Given the description of an element on the screen output the (x, y) to click on. 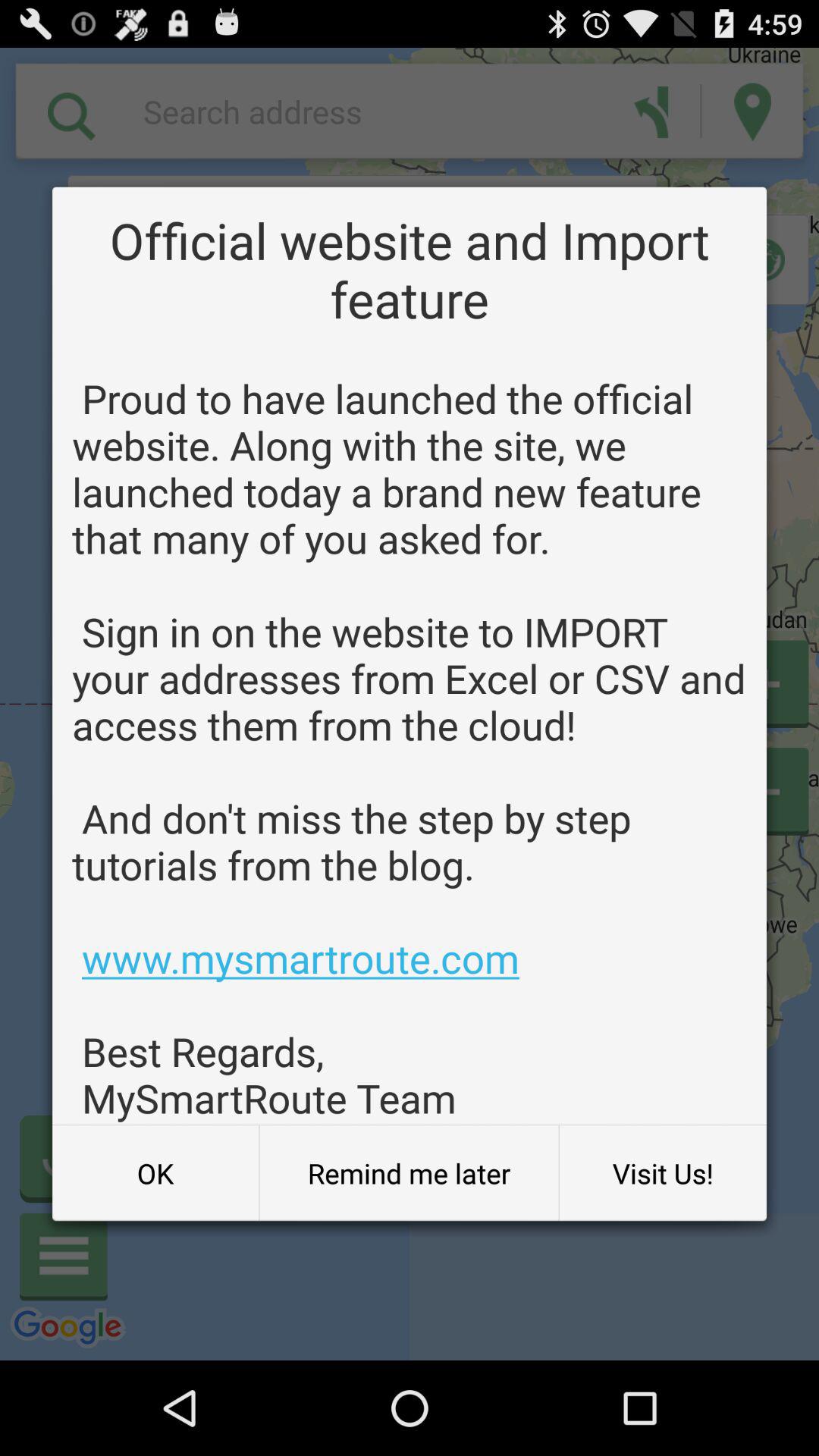
select item next to ok item (408, 1173)
